Given the description of an element on the screen output the (x, y) to click on. 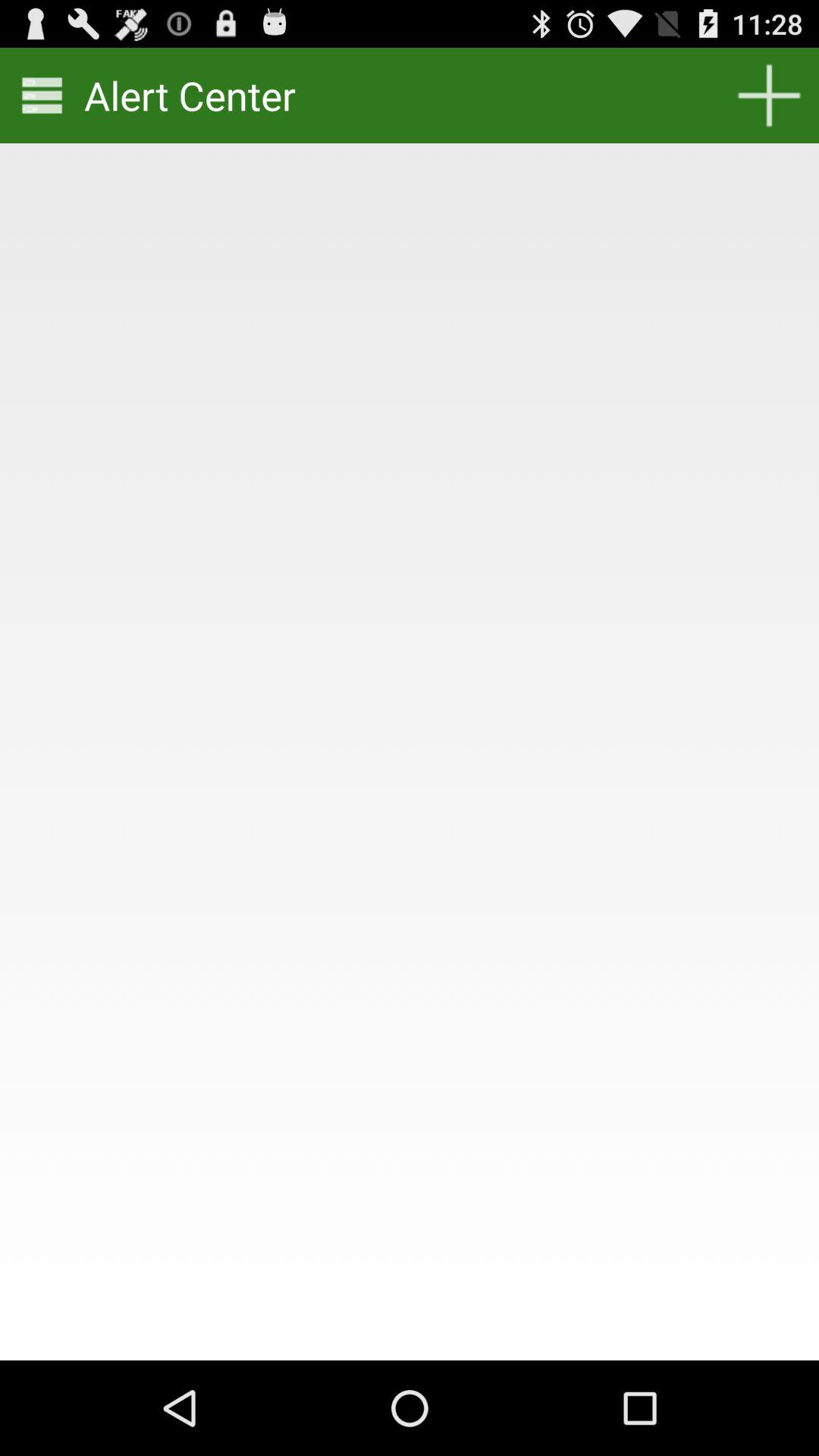
click the item next to alert center (769, 95)
